Given the description of an element on the screen output the (x, y) to click on. 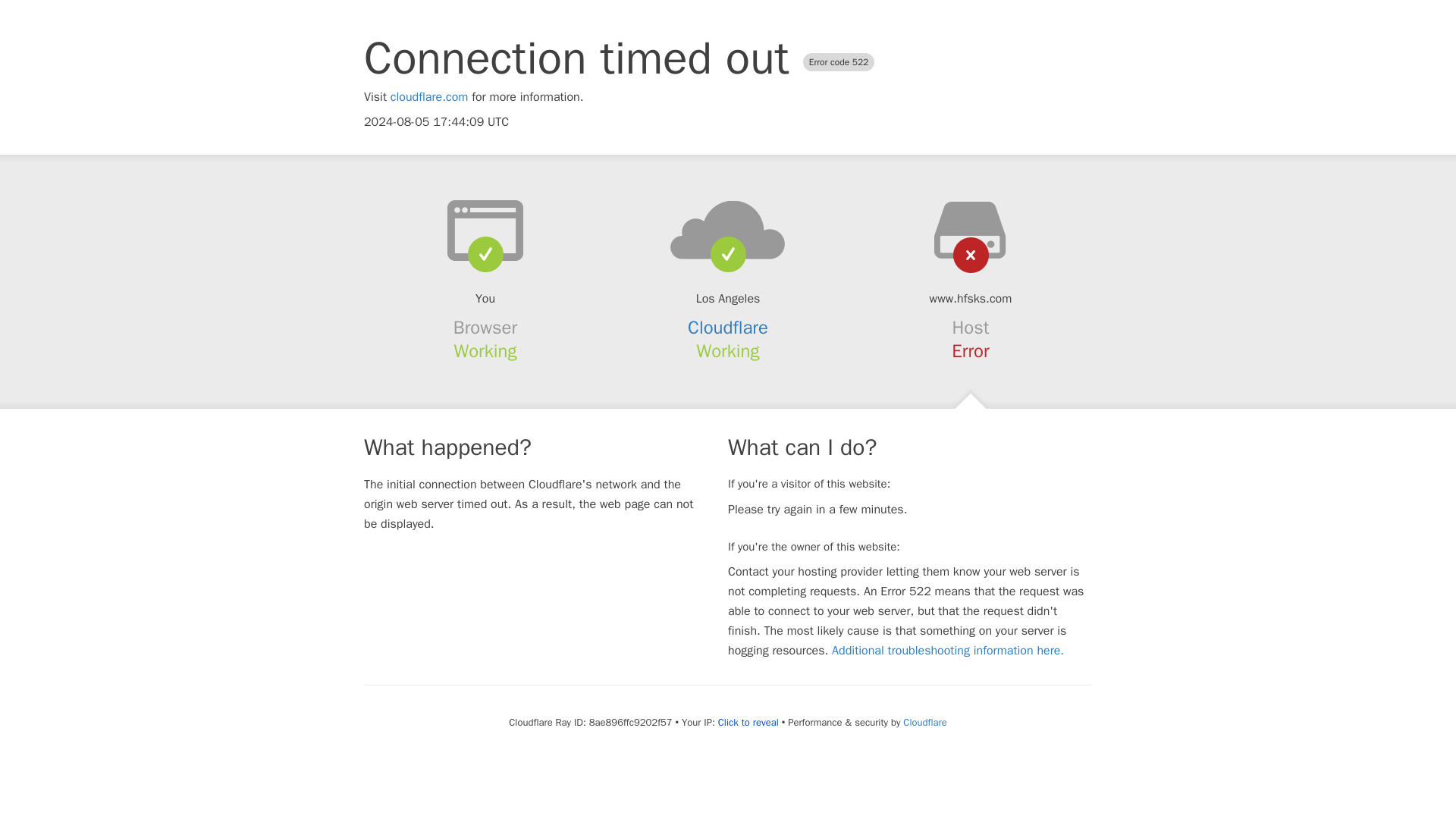
Cloudflare (924, 721)
Cloudflare (727, 327)
Click to reveal (747, 722)
cloudflare.com (429, 96)
Additional troubleshooting information here. (947, 650)
